Given the description of an element on the screen output the (x, y) to click on. 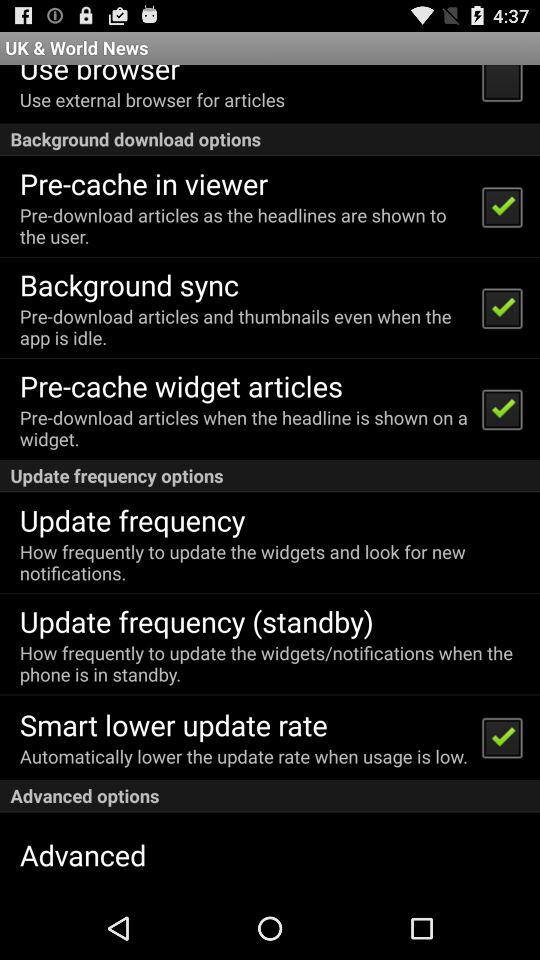
select the automatically lower the item (243, 755)
